Given the description of an element on the screen output the (x, y) to click on. 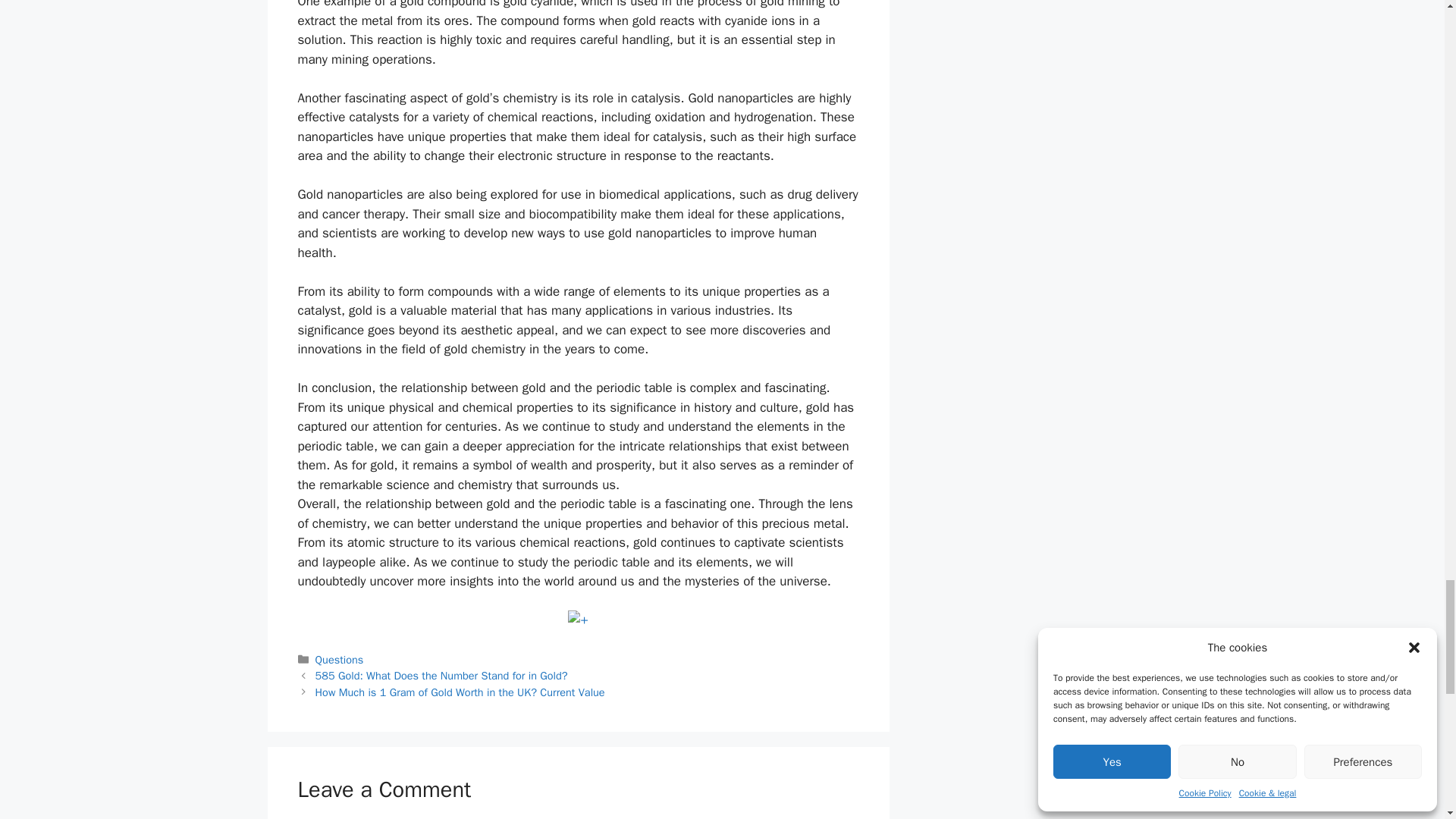
585 Gold: What Does the Number Stand for in Gold? (441, 675)
How Much is 1 Gram of Gold Worth in the UK? Current Value (460, 692)
Questions (339, 659)
